Given the description of an element on the screen output the (x, y) to click on. 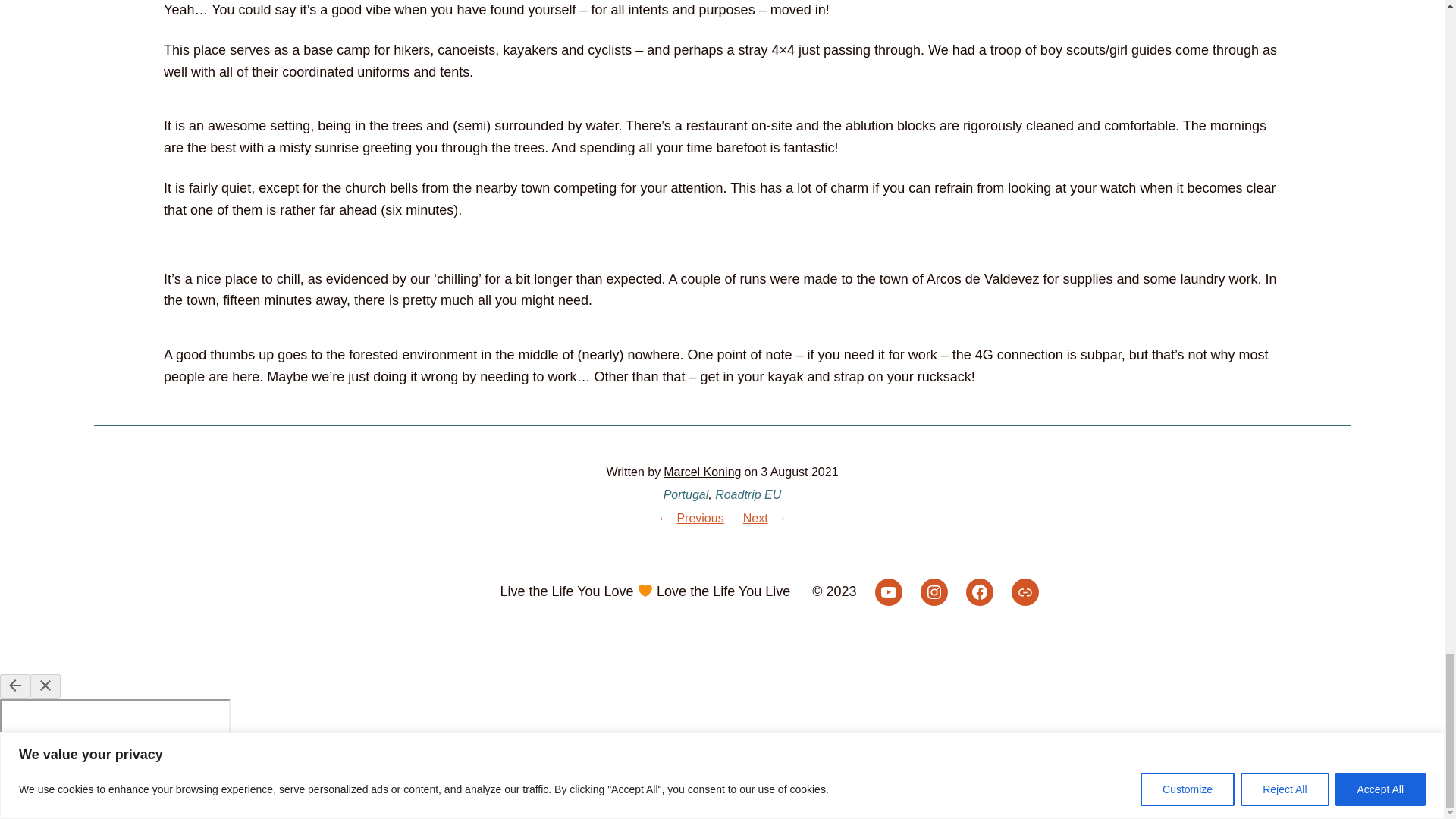
Roadtrip EU (747, 494)
Facebook (979, 592)
Previous (700, 517)
Portugal (686, 494)
Next (755, 517)
Marcel Koning (702, 472)
Buy me a beer (1025, 592)
YouTube (888, 592)
Instagram (933, 592)
